Given the description of an element on the screen output the (x, y) to click on. 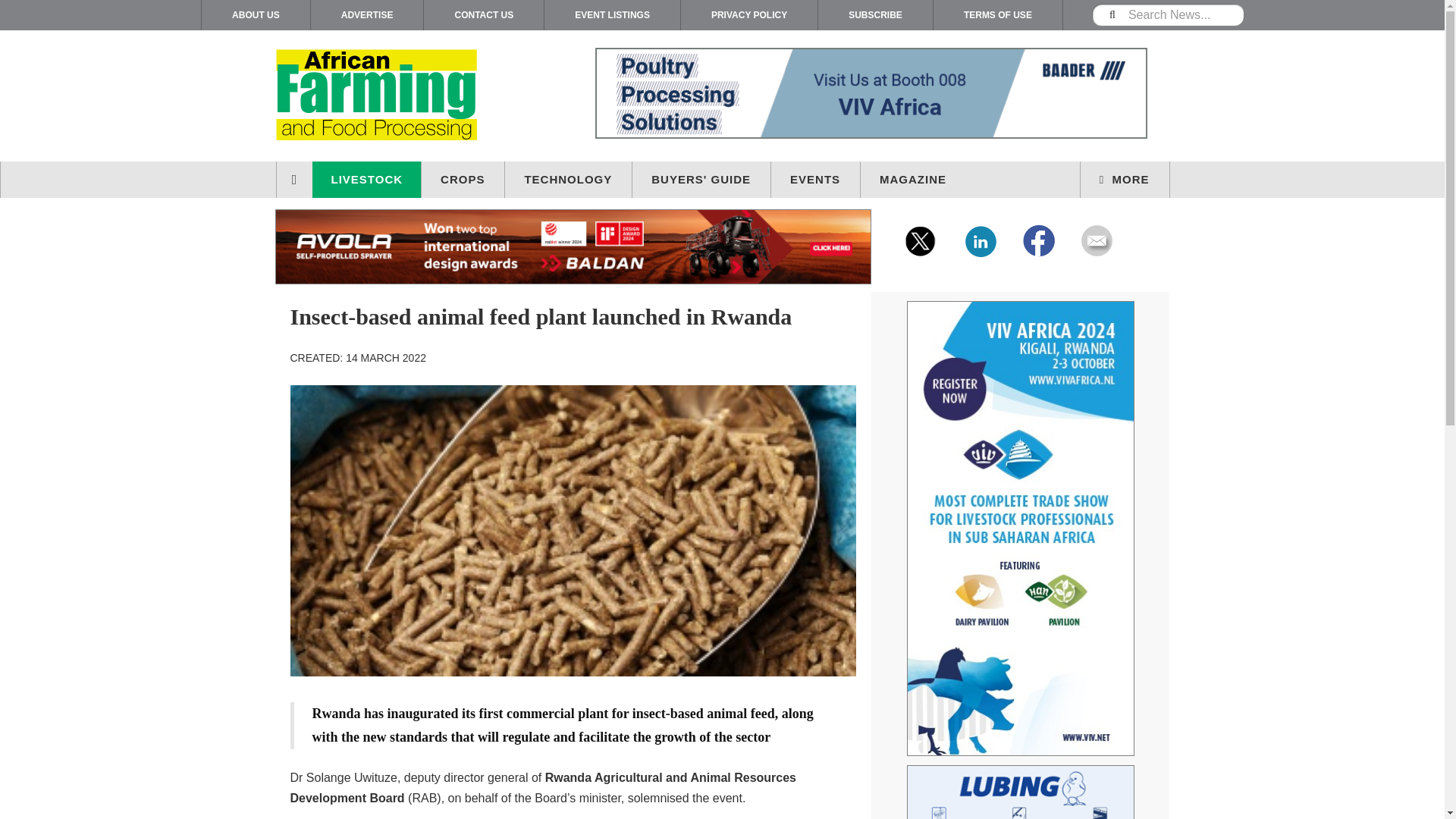
BUYERS' GUIDE (700, 179)
LIVESTOCK (367, 179)
ADVERTISE (367, 15)
TECHNOLOGY (568, 179)
HOME (295, 179)
SUBSCRIBE (875, 15)
PRIVACY POLICY (748, 15)
MAGAZINE (913, 179)
African Review of Business and Technology (405, 95)
EVENTS (815, 179)
